Given the description of an element on the screen output the (x, y) to click on. 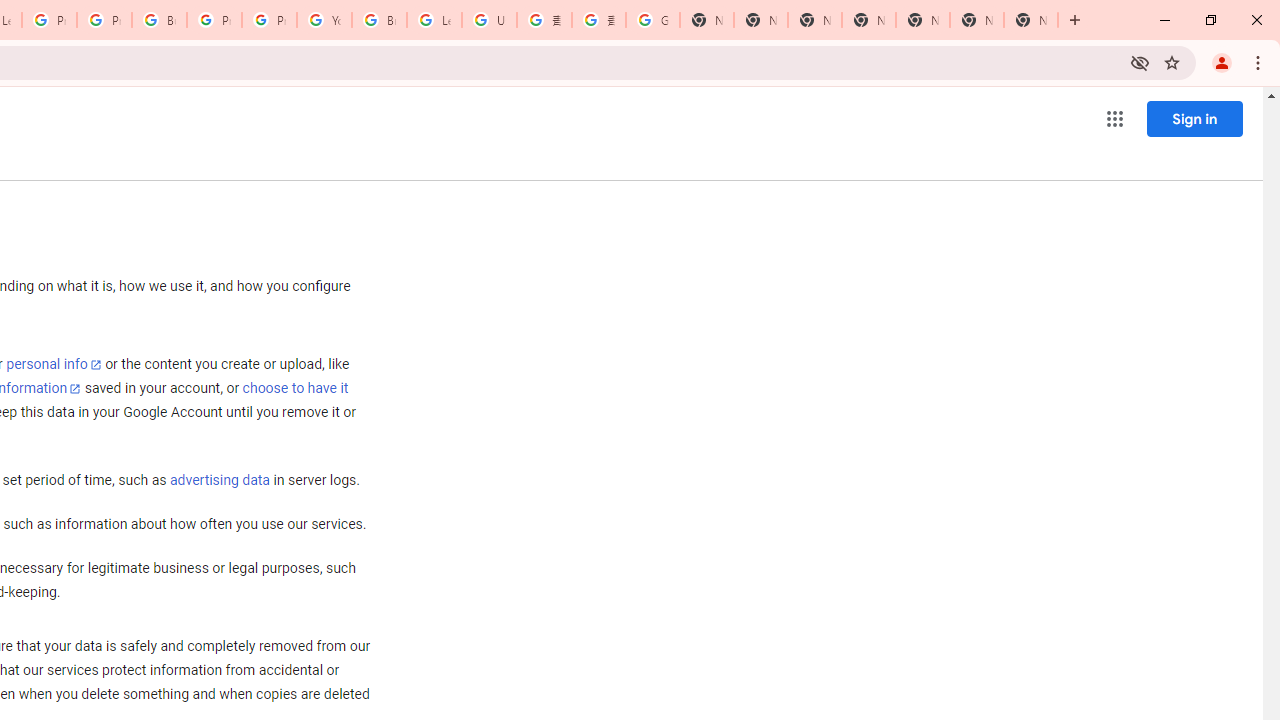
New Tab (1030, 20)
New Tab (868, 20)
advertising data (219, 481)
Privacy Help Center - Policies Help (103, 20)
